Given the description of an element on the screen output the (x, y) to click on. 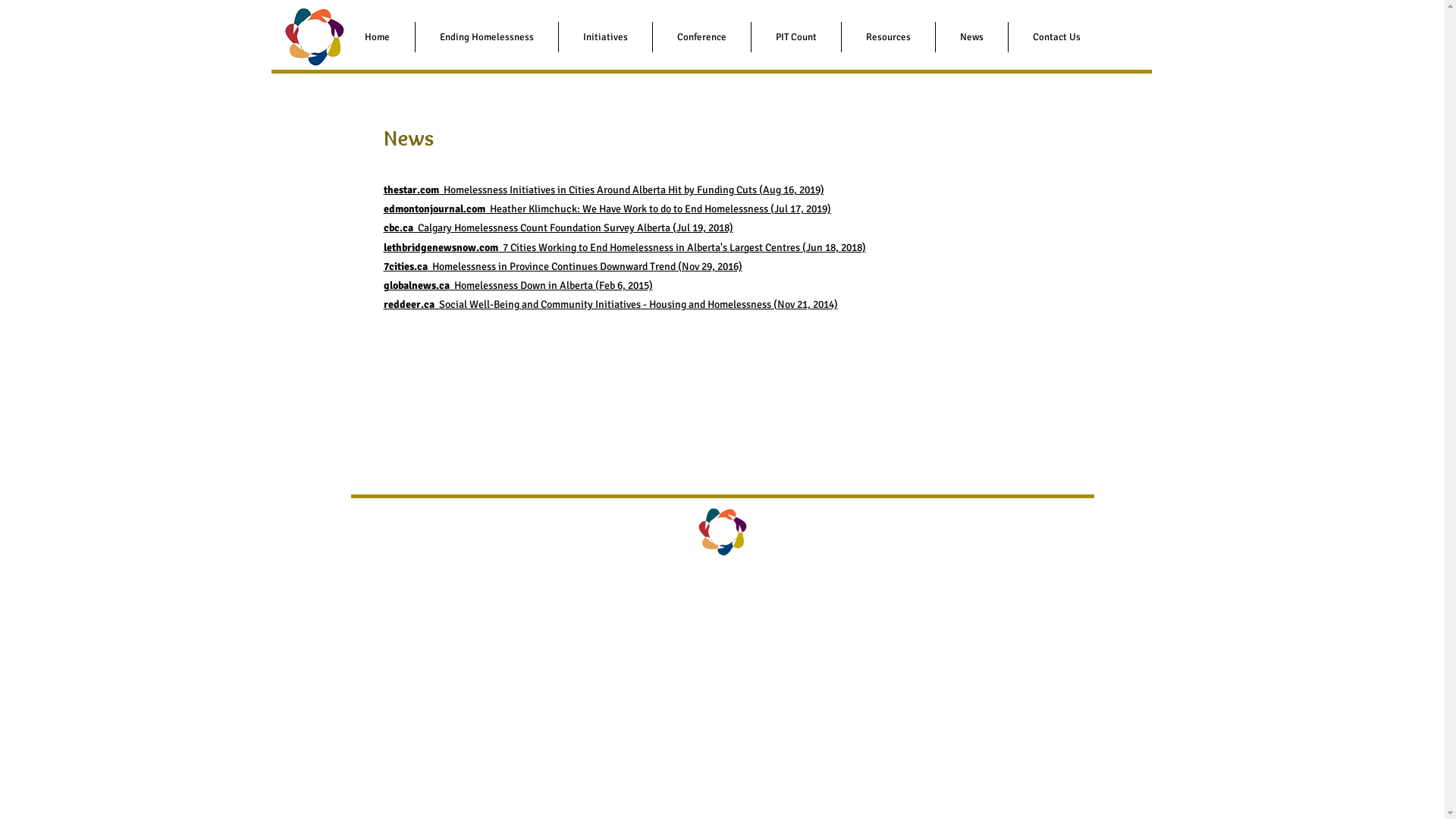
ommunity I Element type: text (571, 304)
ousing Element type: text (671, 304)
B Element type: text (495, 304)
Resources Element type: text (888, 36)
Contact Us Element type: text (1056, 36)
and C Element type: text (533, 304)
Conference Element type: text (700, 36)
eing Element type: text (509, 304)
globalnews.ca  Homelessness Down in Alberta (Feb 6, 2015) Element type: text (517, 285)
News Element type: text (971, 36)
nitiatives - Element type: text (622, 304)
ell- Element type: text (484, 304)
and H Element type: text (701, 304)
Initiatives Element type: text (604, 36)
PIT Count Element type: text (795, 36)
omelessness (Nov 21, 2014) Element type: text (775, 304)
H Element type: text (652, 304)
Ending Homelessness Element type: text (486, 36)
  S Element type: text (438, 304)
reddeer.ca Element type: text (408, 304)
ocial W Element type: text (460, 304)
Home Element type: text (376, 36)
